Given the description of an element on the screen output the (x, y) to click on. 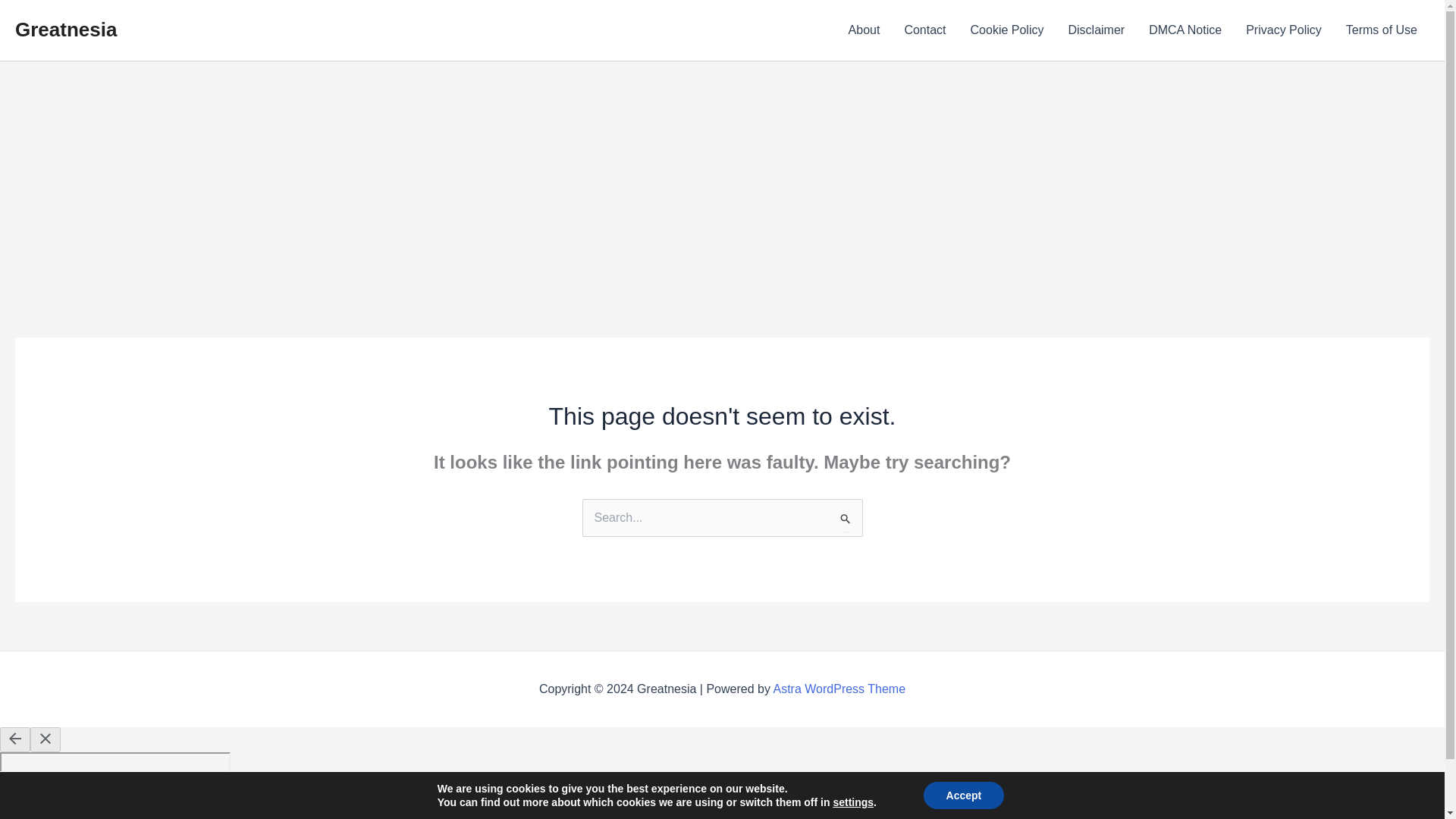
Cookie Policy (1007, 30)
Terms of Use (1381, 30)
Privacy Policy (1283, 30)
DMCA Notice (1185, 30)
Disclaimer (1096, 30)
settings (852, 802)
Greatnesia (65, 29)
About (863, 30)
Accept (963, 795)
Contact (924, 30)
Astra WordPress Theme (839, 688)
